Given the description of an element on the screen output the (x, y) to click on. 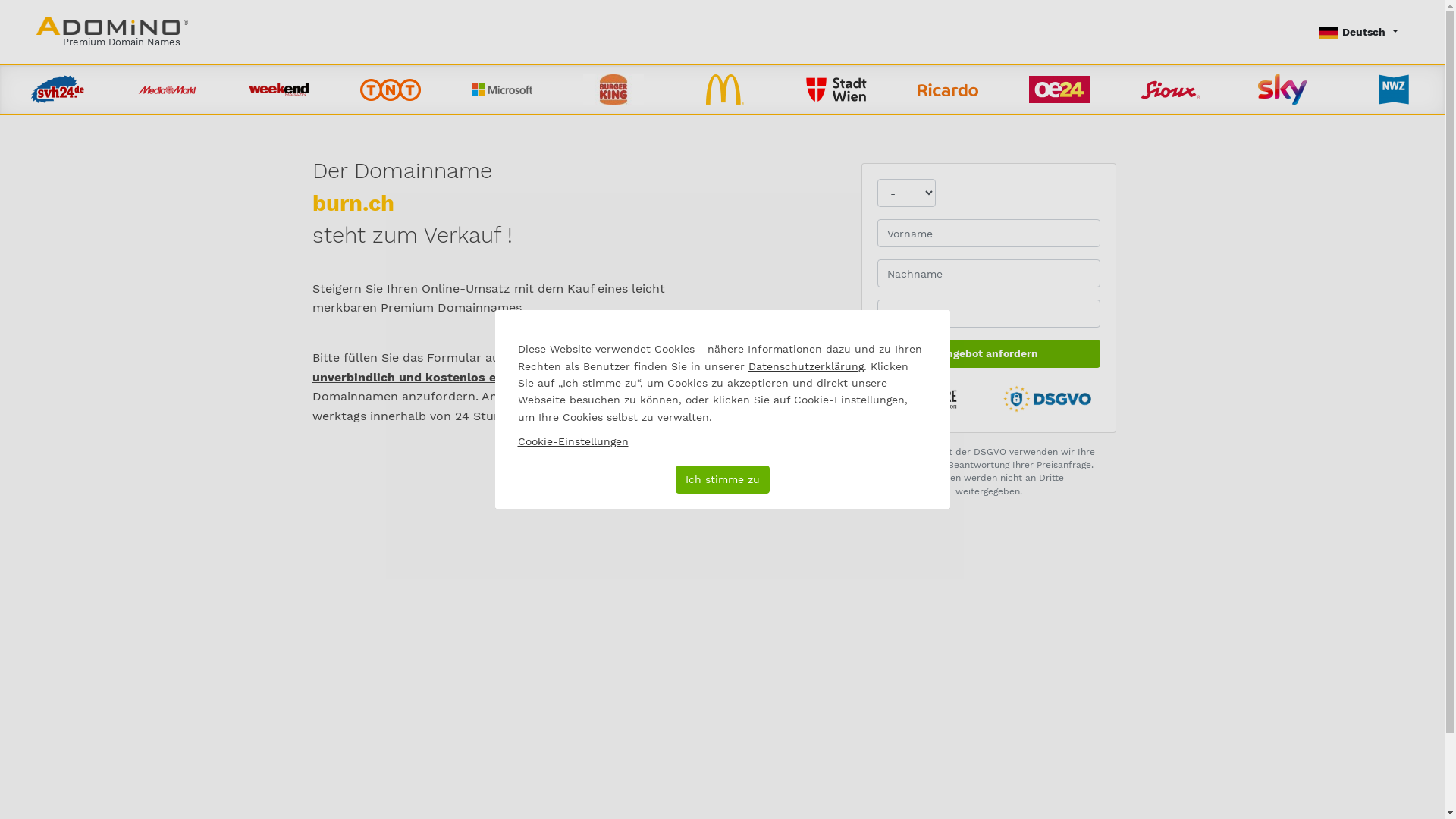
Ich stimme zu Element type: text (721, 479)
Premium Domain Names Element type: text (112, 31)
Angebot anfordern Element type: text (989, 353)
Deutsch Element type: text (1358, 32)
Cookie-Einstellungen Element type: text (572, 441)
